Given the description of an element on the screen output the (x, y) to click on. 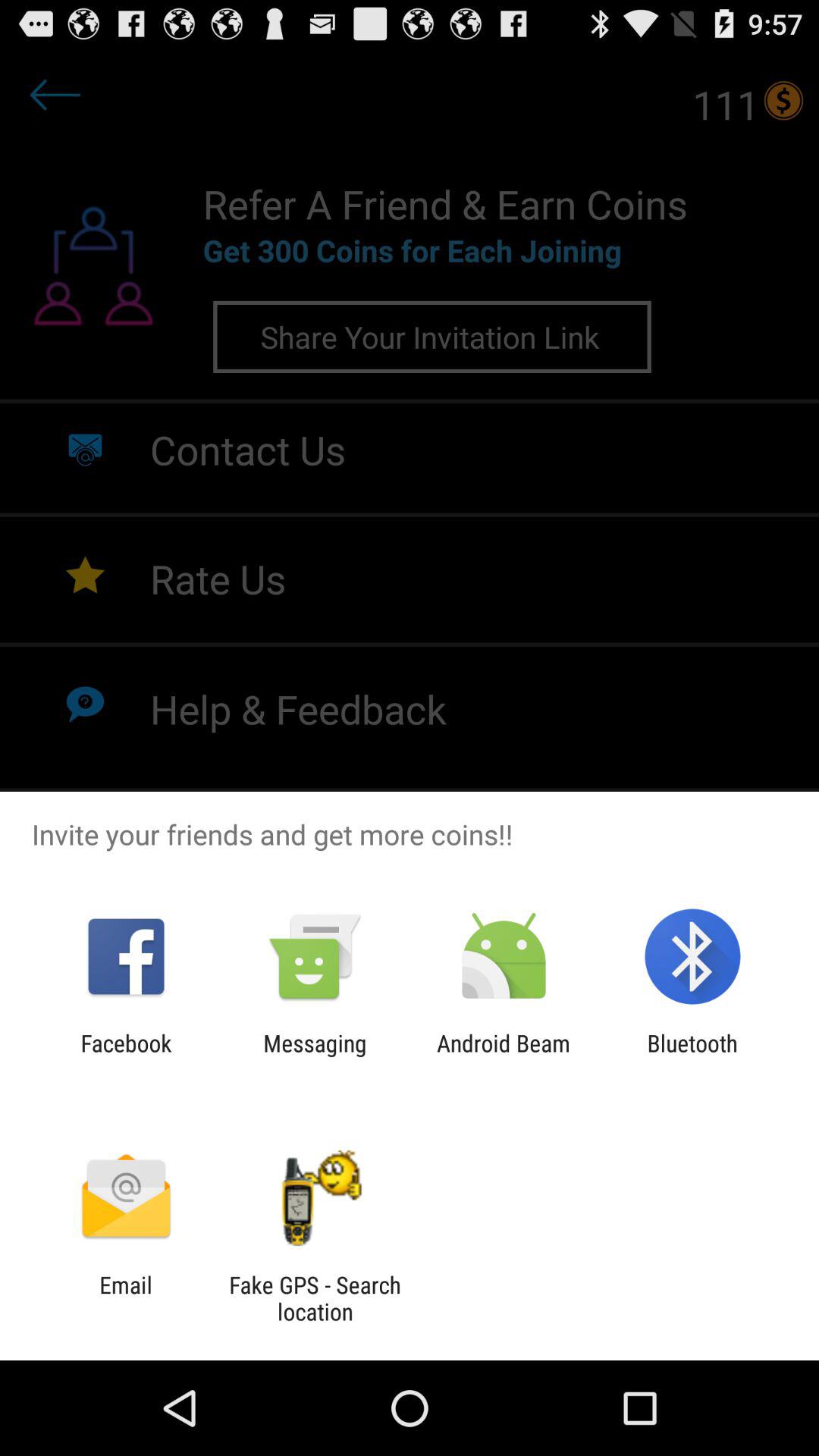
click icon next to the messaging (125, 1056)
